Given the description of an element on the screen output the (x, y) to click on. 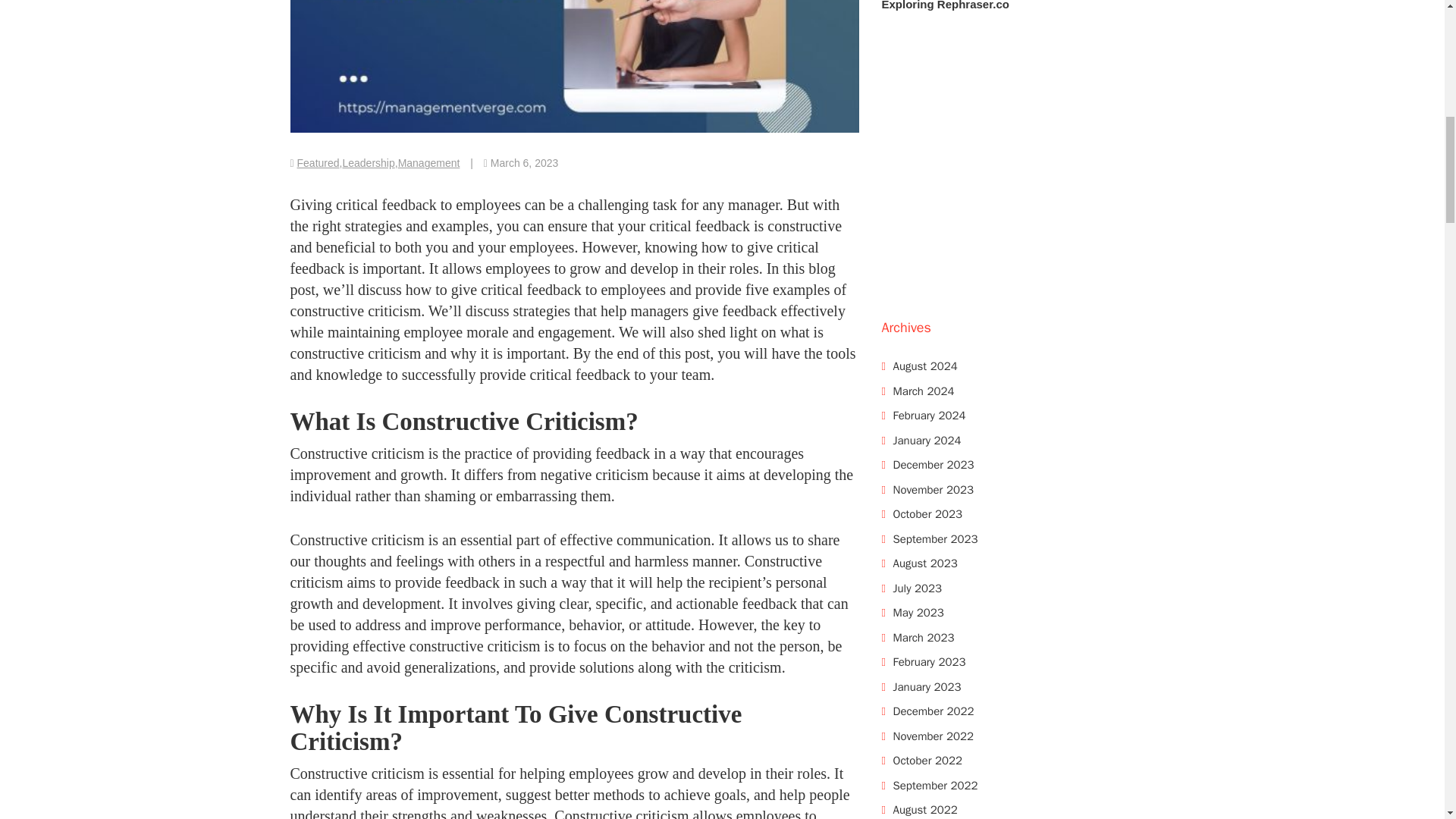
May 2023 (918, 612)
February 2024 (929, 415)
September 2023 (935, 539)
August 2024 (925, 366)
October 2023 (927, 513)
December 2023 (933, 464)
November 2023 (933, 489)
Advertisement (1017, 172)
March 2024 (924, 391)
July 2023 (917, 588)
